Given the description of an element on the screen output the (x, y) to click on. 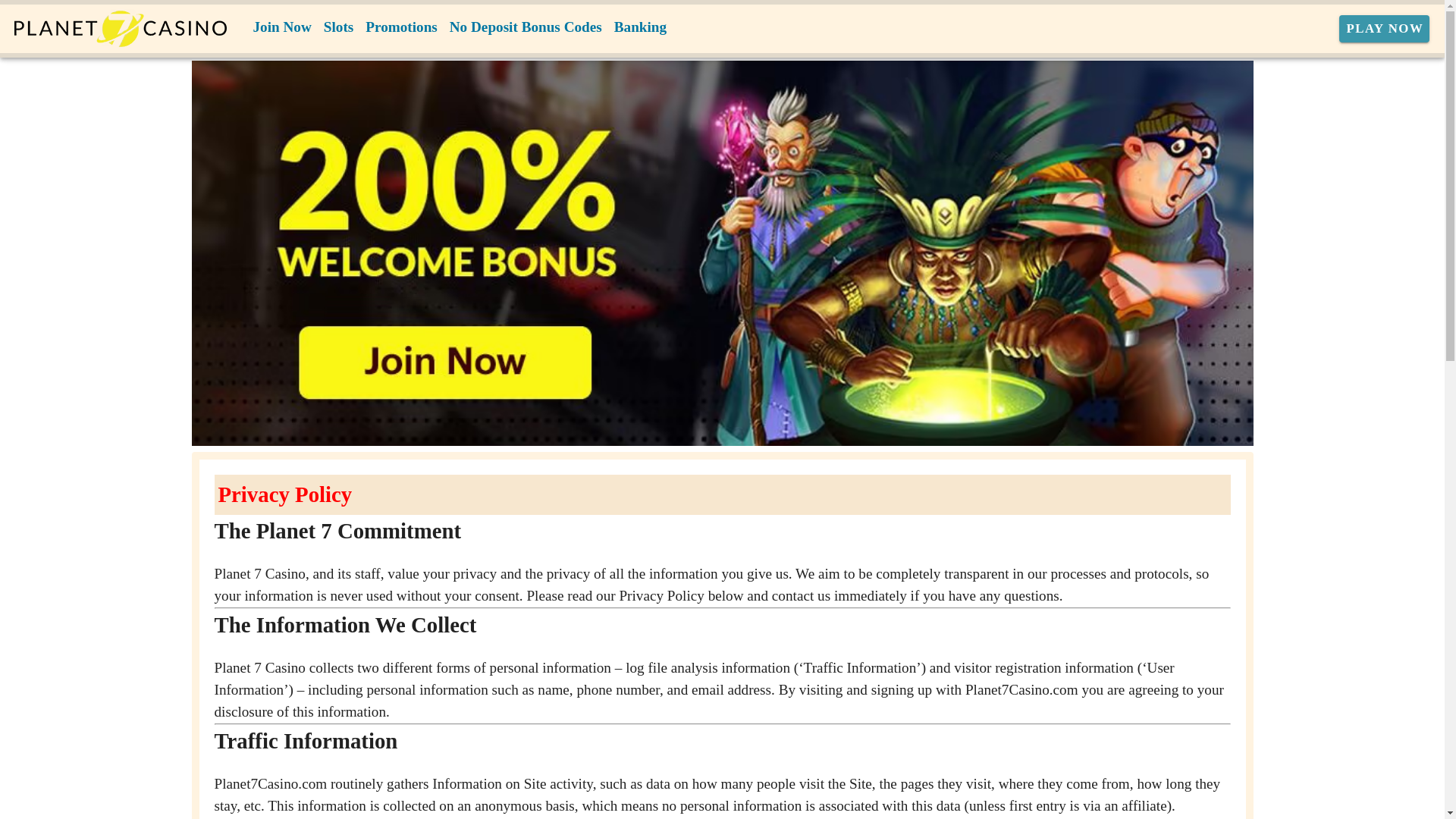
Slots (338, 27)
PLAY NOW (1384, 28)
No Deposit Bonus Codes (526, 27)
Join Now (282, 27)
Banking (640, 27)
Promotions (401, 27)
